Given the description of an element on the screen output the (x, y) to click on. 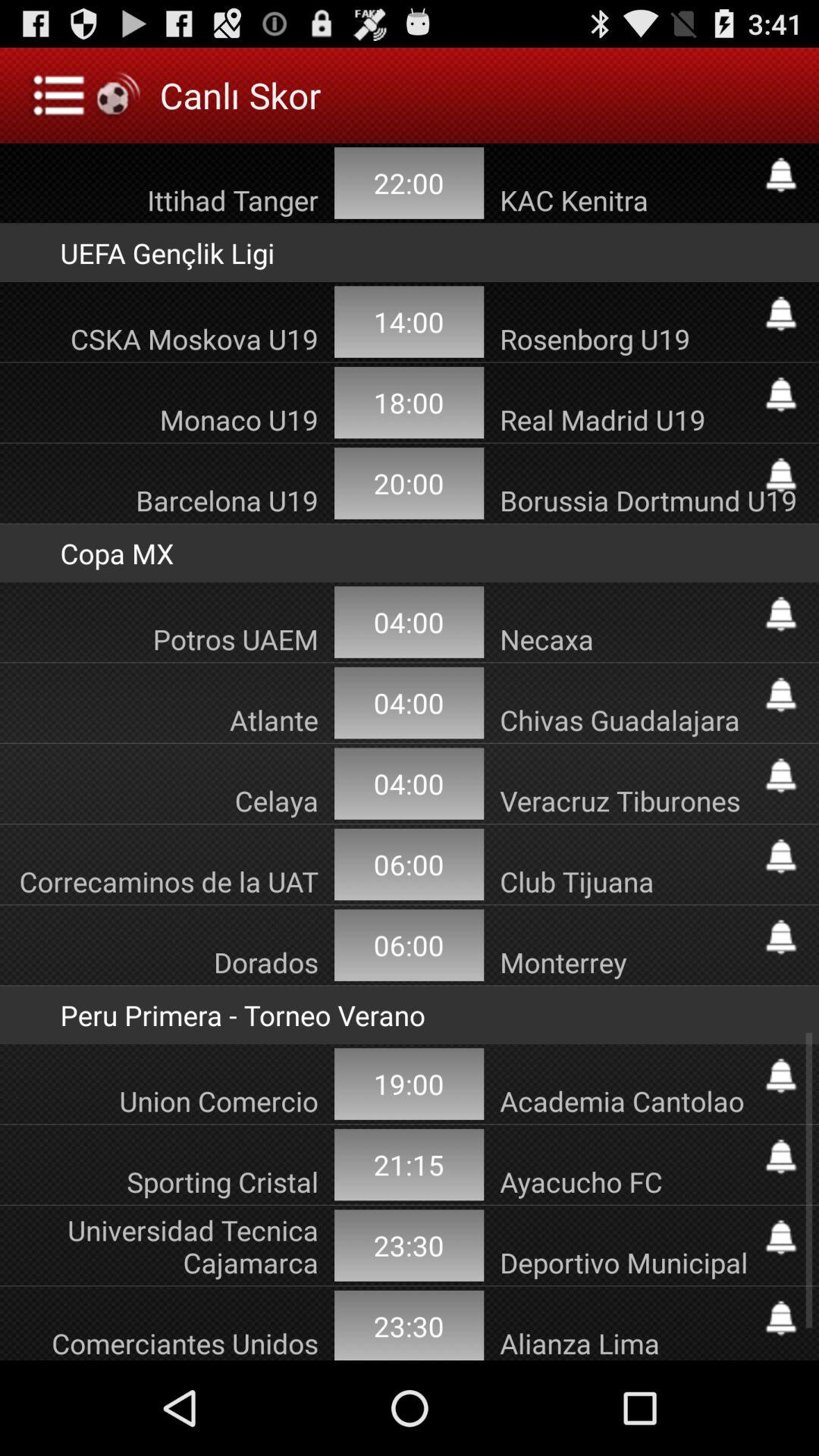
set alarm (780, 1075)
